Given the description of an element on the screen output the (x, y) to click on. 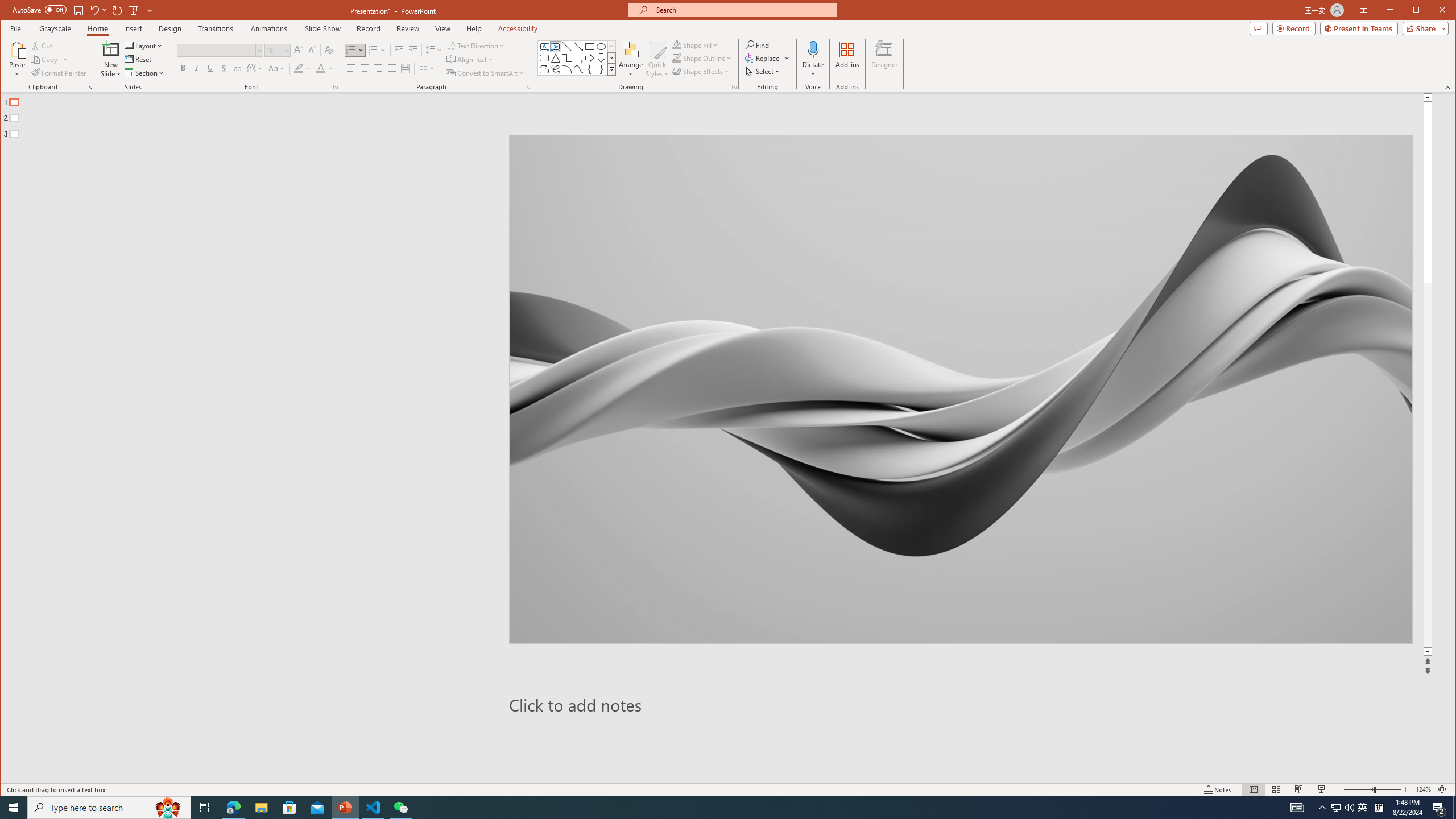
Wavy 3D art (960, 388)
